Given the description of an element on the screen output the (x, y) to click on. 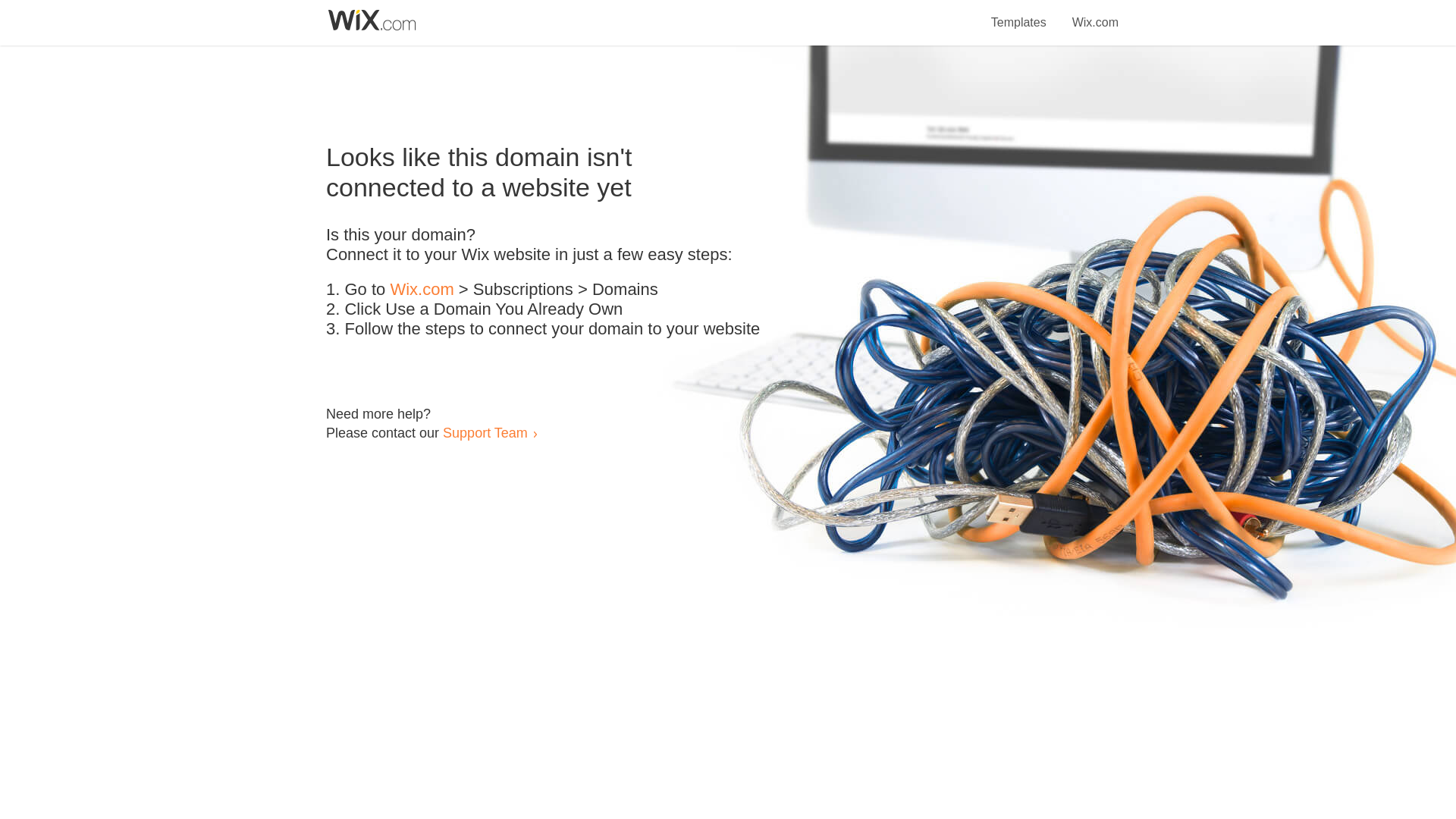
Wix.com (1095, 14)
Templates (1018, 14)
Wix.com (421, 289)
Support Team (484, 432)
